Given the description of an element on the screen output the (x, y) to click on. 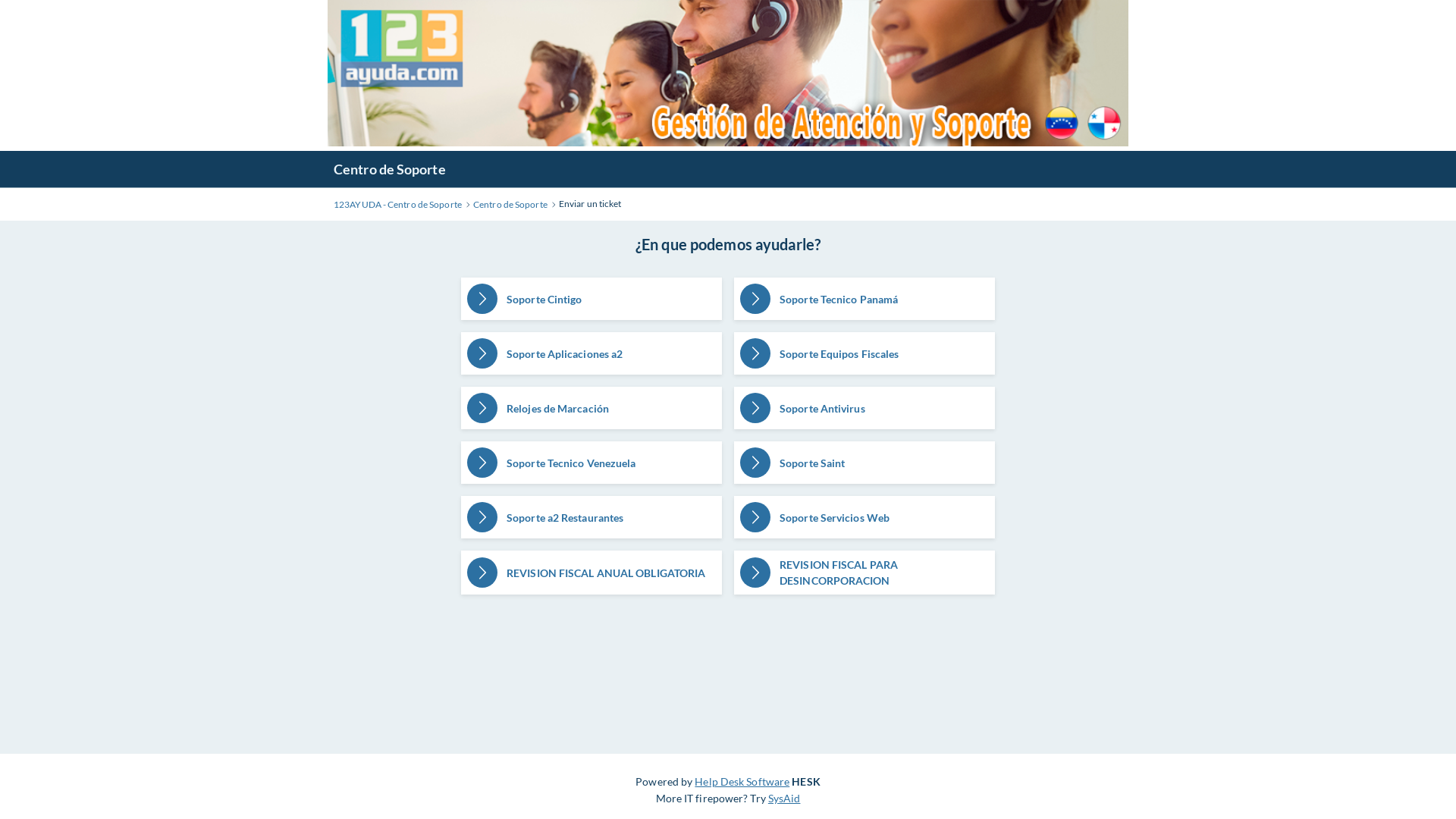
Soporte a2 Restaurantes Element type: text (591, 516)
Centro de Soporte Element type: text (389, 168)
Soporte Tecnico Venezuela Element type: text (591, 462)
Soporte Antivirus Element type: text (864, 407)
Soporte Servicios Web Element type: text (864, 516)
Soporte Saint Element type: text (864, 462)
SysAid Element type: text (784, 797)
Soporte Equipos Fiscales Element type: text (864, 353)
Help Desk Software Element type: text (741, 781)
Soporte Cintigo Element type: text (591, 298)
REVISION FISCAL ANUAL OBLIGATORIA Element type: text (591, 572)
REVISION FISCAL PARA DESINCORPORACION Element type: text (864, 572)
123AYUDA - Centro de Soporte Element type: text (397, 204)
Centro de Soporte Element type: text (510, 204)
Soporte Aplicaciones a2 Element type: text (591, 353)
